Given the description of an element on the screen output the (x, y) to click on. 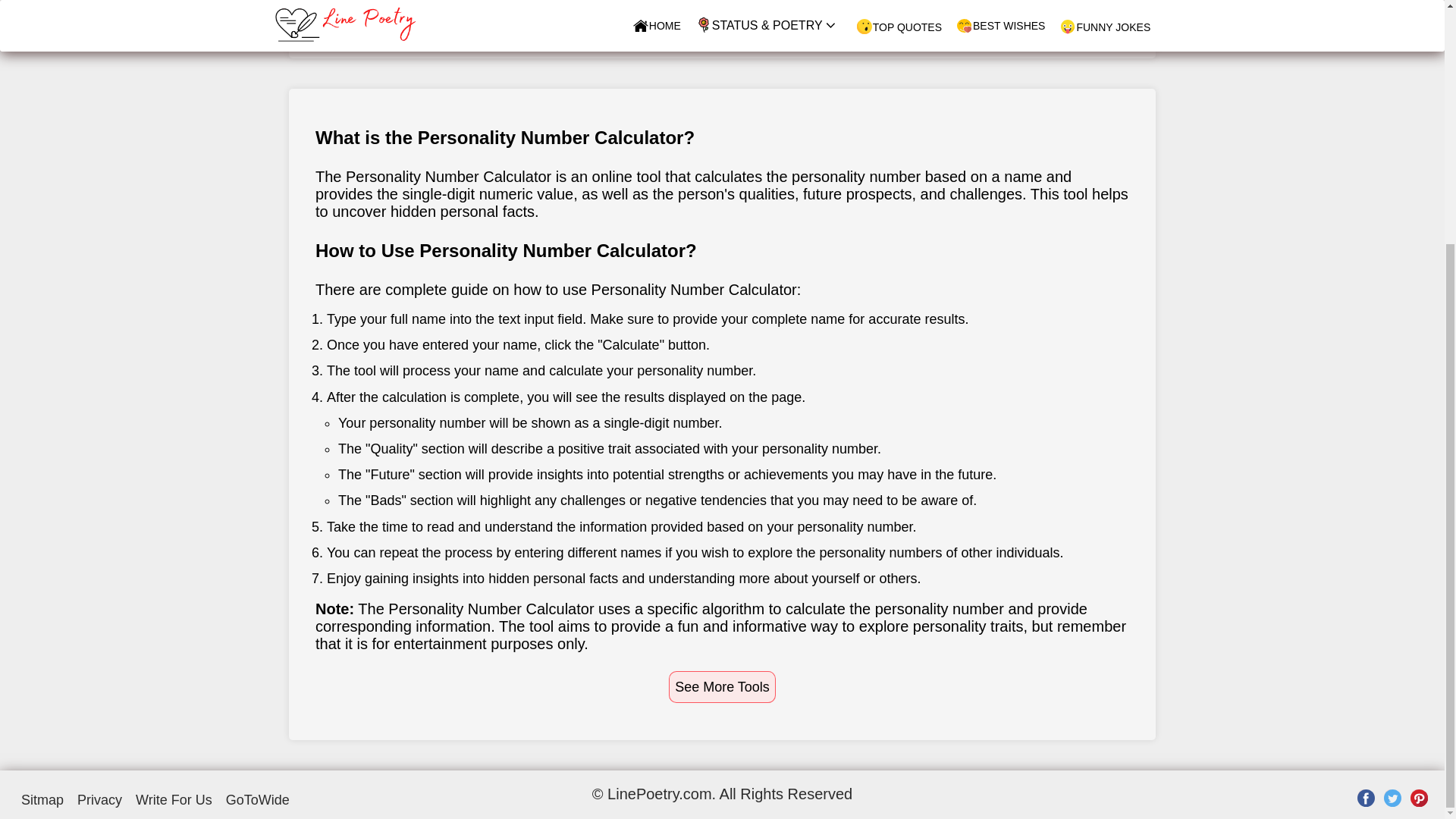
Sitmap (42, 799)
Write For Us (173, 799)
Calculate (721, 12)
Privacy (99, 799)
See More Tools (722, 686)
GoToWide (257, 799)
